Given the description of an element on the screen output the (x, y) to click on. 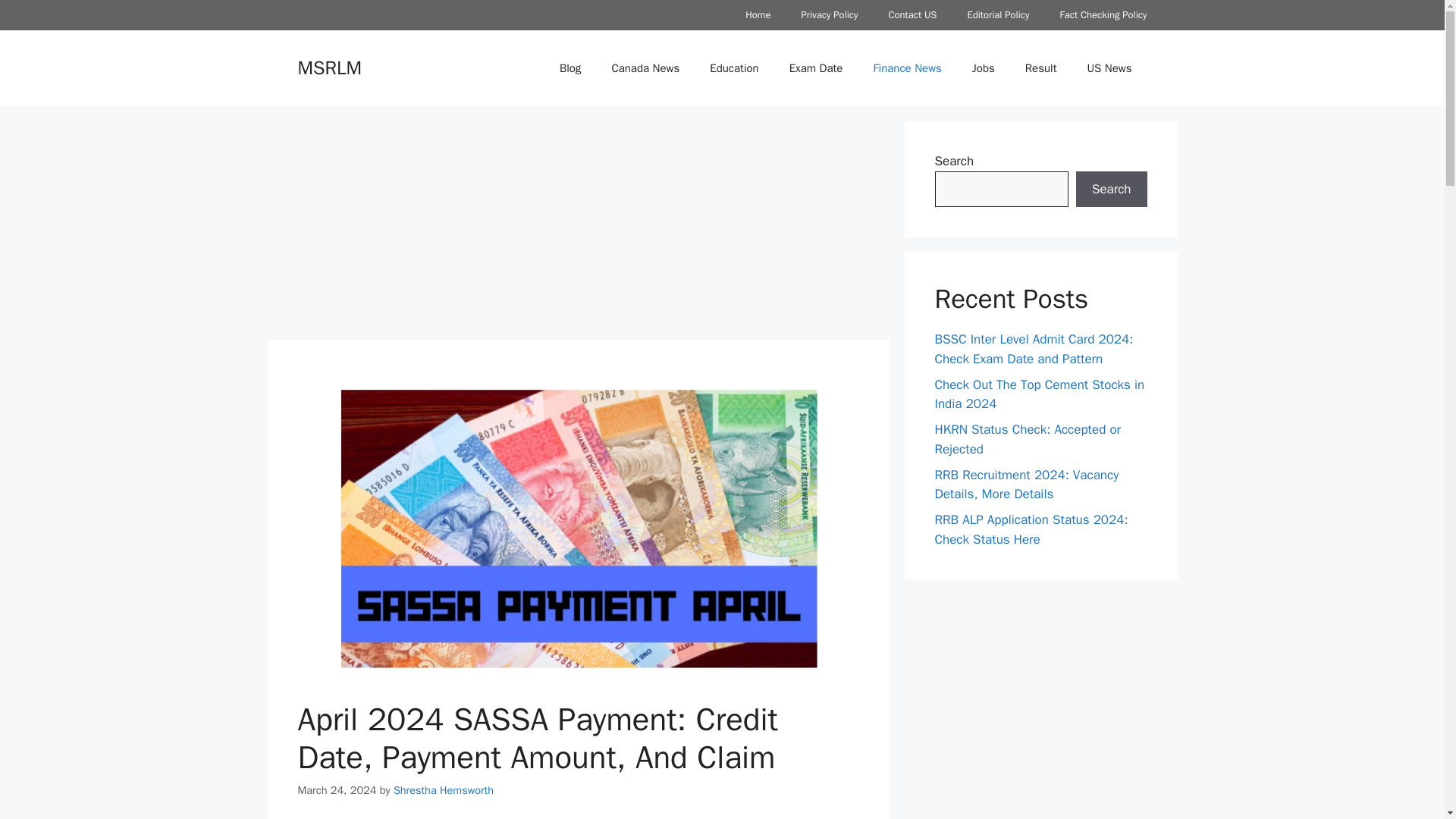
RRB Recruitment 2024: Vacancy Details, More Details (1026, 484)
Blog (569, 67)
HKRN Status Check: Accepted or Rejected (1027, 439)
Canada News (644, 67)
Exam Date (816, 67)
Result (1040, 67)
Check Out The Top Cement Stocks in India 2024 (1039, 393)
Privacy Policy (829, 15)
Jobs (983, 67)
Home (758, 15)
RRB ALP Application Status 2024: Check Status Here (1030, 529)
Advertisement (577, 227)
Fact Checking Policy (1102, 15)
View all posts by Shrestha Hemsworth (443, 789)
